Given the description of an element on the screen output the (x, y) to click on. 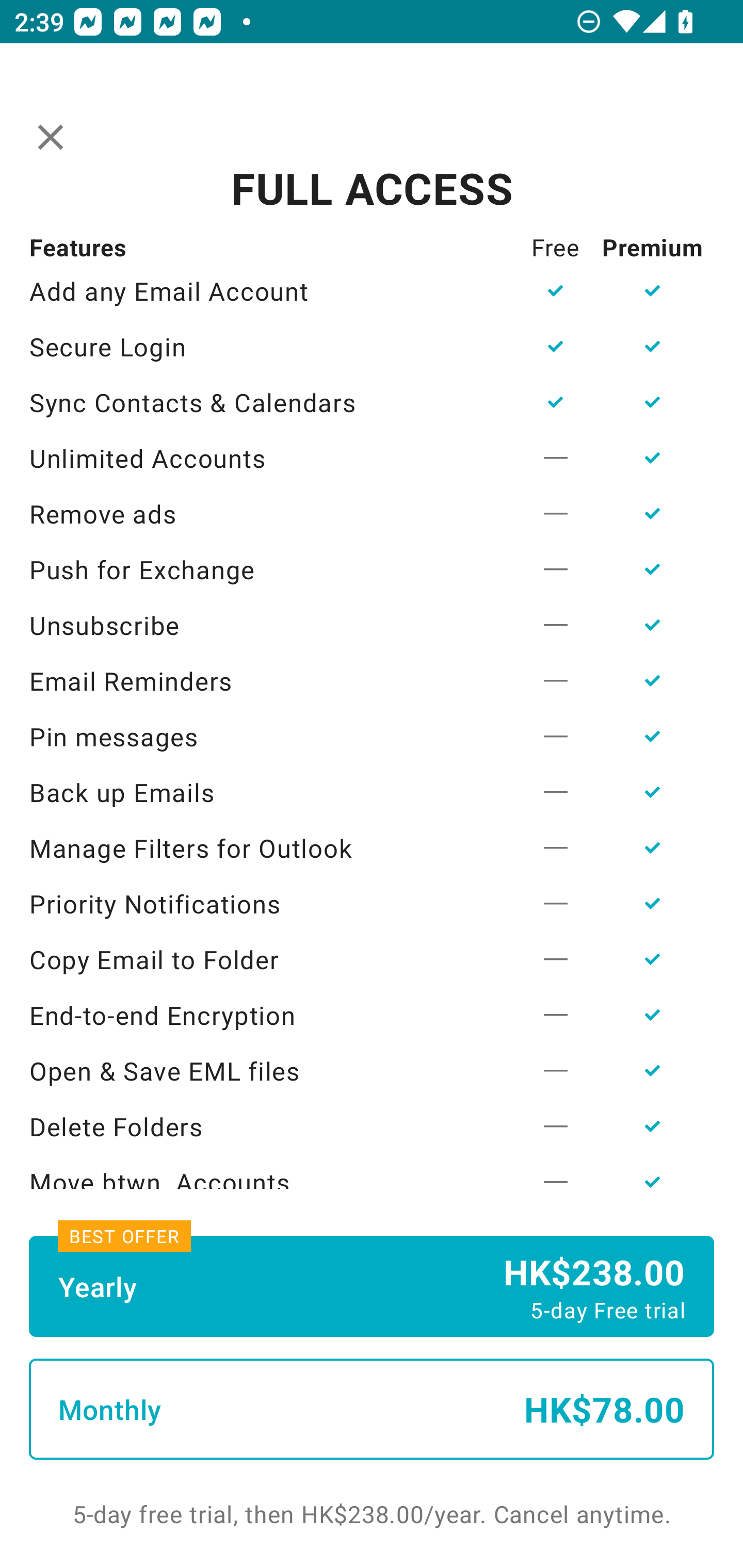
Yearly HK$238.00 5-day Free trial (371, 1286)
Monthly HK$78.00 (371, 1408)
